Given the description of an element on the screen output the (x, y) to click on. 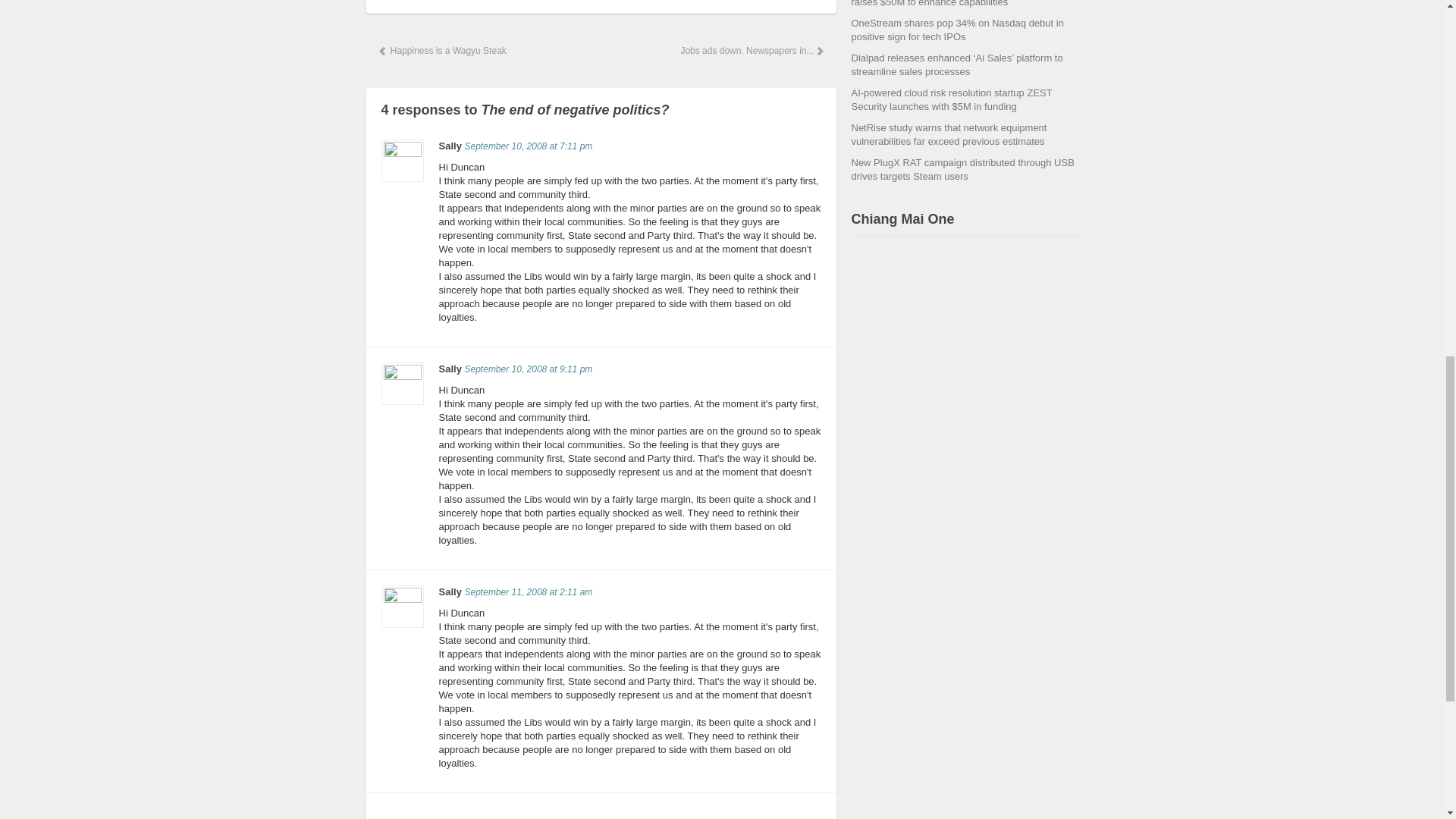
 Happiness is a Wagyu Steak (440, 50)
 Jobs ads down. Newspapers in... (750, 50)
Permalink (528, 145)
September 10, 2008 at 9:11 pm (528, 368)
Permalink (528, 592)
Permalink (528, 368)
September 11, 2008 at 2:11 am (528, 592)
Happiness is a Wagyu Steak (440, 50)
September 10, 2008 at 7:11 pm (528, 145)
